Given the description of an element on the screen output the (x, y) to click on. 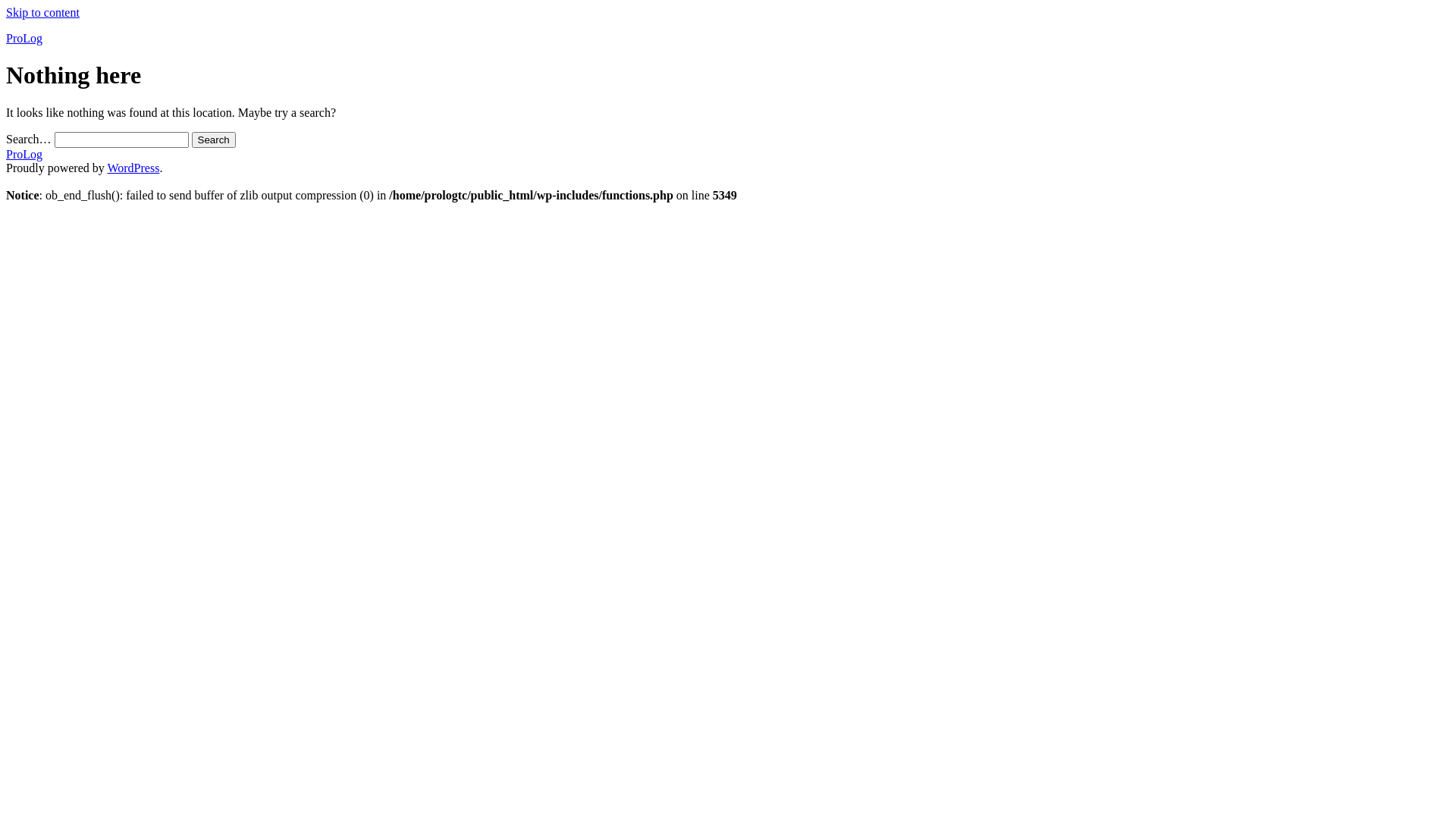
ProLog Element type: text (24, 37)
ProLog Element type: text (24, 153)
Skip to content Element type: text (42, 12)
WordPress Element type: text (132, 167)
Search Element type: text (213, 139)
